Given the description of an element on the screen output the (x, y) to click on. 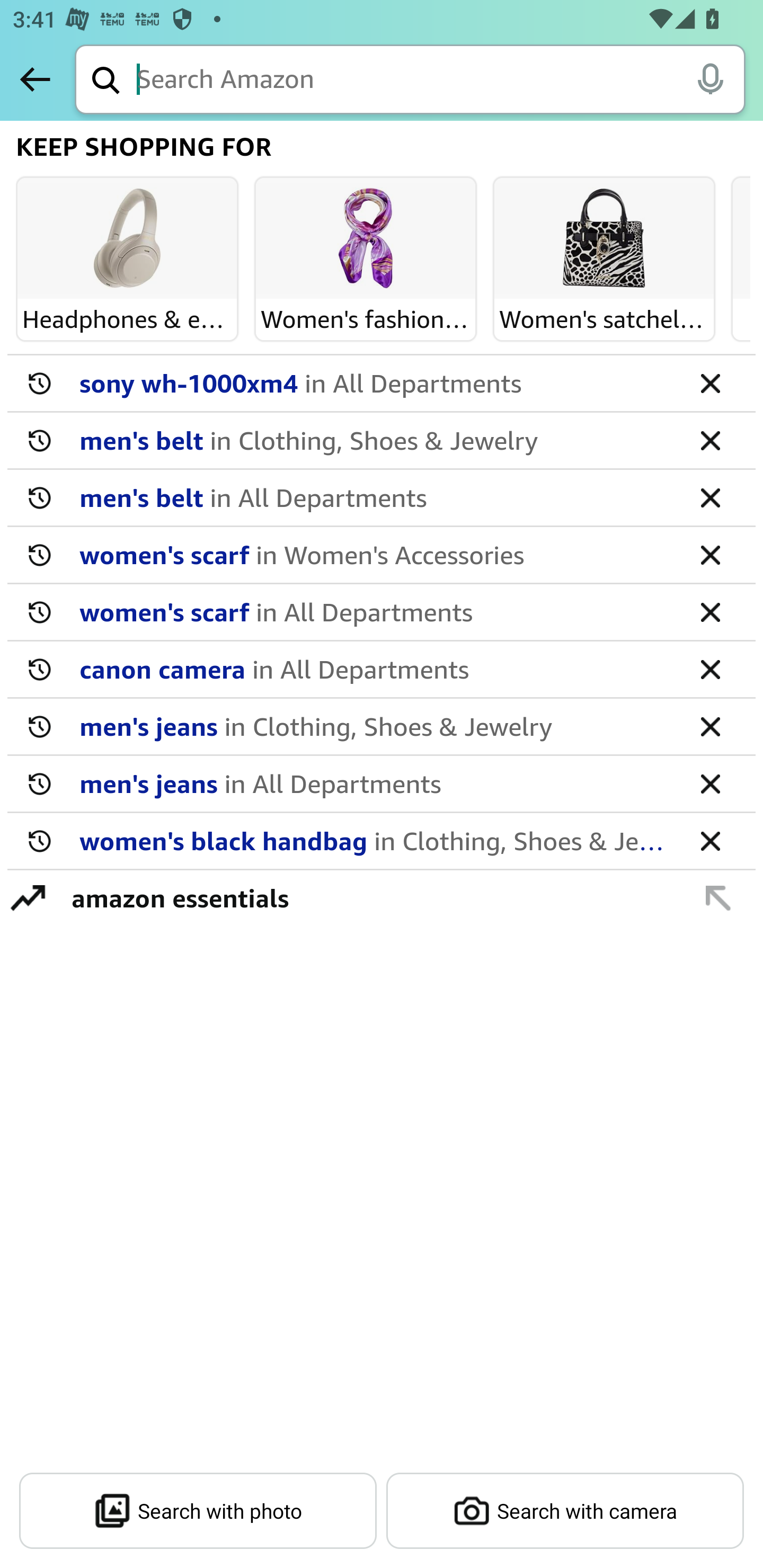
Search Amazon (440, 80)
Back (35, 78)
Alexa (710, 78)
Headphones & earbuds (126, 238)
Women's fashion scarves (365, 238)
Women's satchel handbags (603, 238)
sony wh-1000xm4 delete (381, 383)
sony wh-1000xm4 (374, 382)
delete (710, 382)
men's belt delete (381, 440)
men's belt (374, 439)
delete (710, 439)
men's belt delete (381, 497)
men's belt (374, 496)
delete (710, 496)
women's scarf delete (381, 554)
women's scarf (374, 554)
delete (710, 554)
women's scarf delete (381, 612)
women's scarf (374, 611)
delete (710, 611)
canon camera delete (381, 669)
canon camera (374, 668)
delete (710, 668)
men's jeans delete (381, 726)
men's jeans (374, 725)
delete (710, 725)
men's jeans delete (381, 783)
men's jeans (374, 783)
delete (710, 783)
women's black handbag delete (381, 841)
women's black handbag (374, 840)
delete (710, 840)
amazon essentials append suggestion (381, 897)
amazon essentials (370, 897)
append suggestion (718, 897)
Search with photo (197, 1510)
Search with camera (564, 1510)
